Given the description of an element on the screen output the (x, y) to click on. 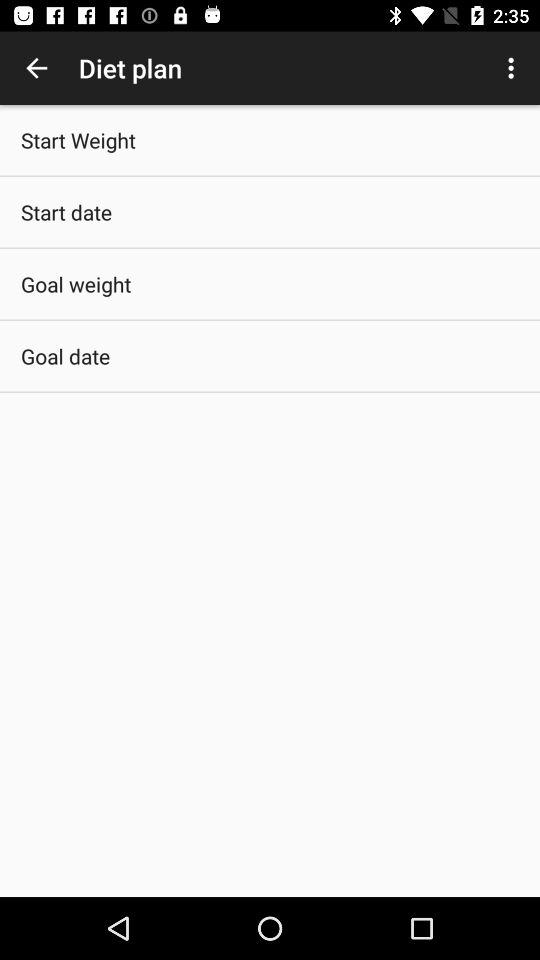
jump to the goal weight icon (76, 284)
